Given the description of an element on the screen output the (x, y) to click on. 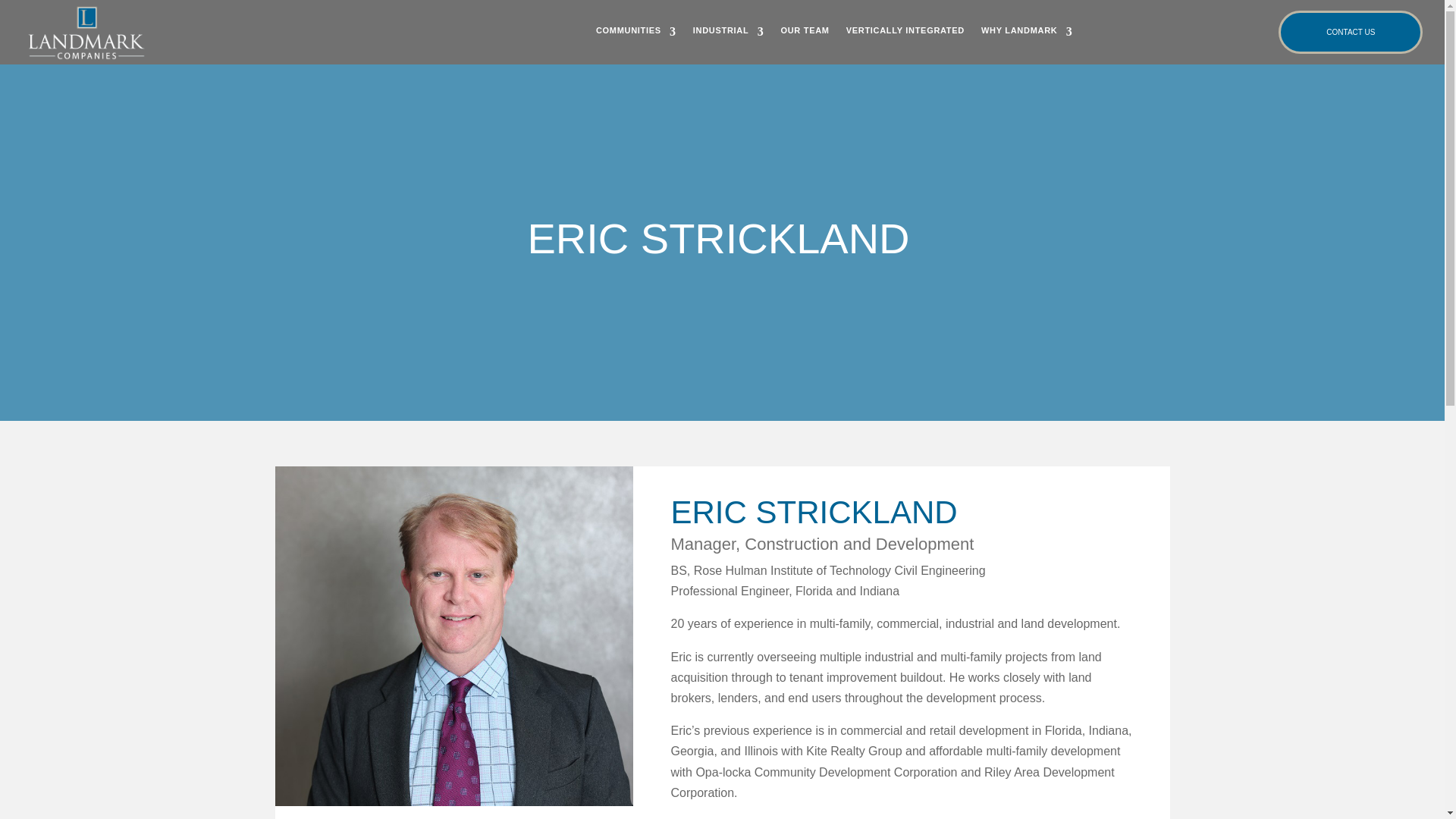
7 (453, 635)
WHY LANDMARK (1026, 32)
INDUSTRIAL (728, 32)
VERTICALLY INTEGRATED (904, 32)
CONTACT US (1350, 32)
COMMUNITIES (636, 32)
